Given the description of an element on the screen output the (x, y) to click on. 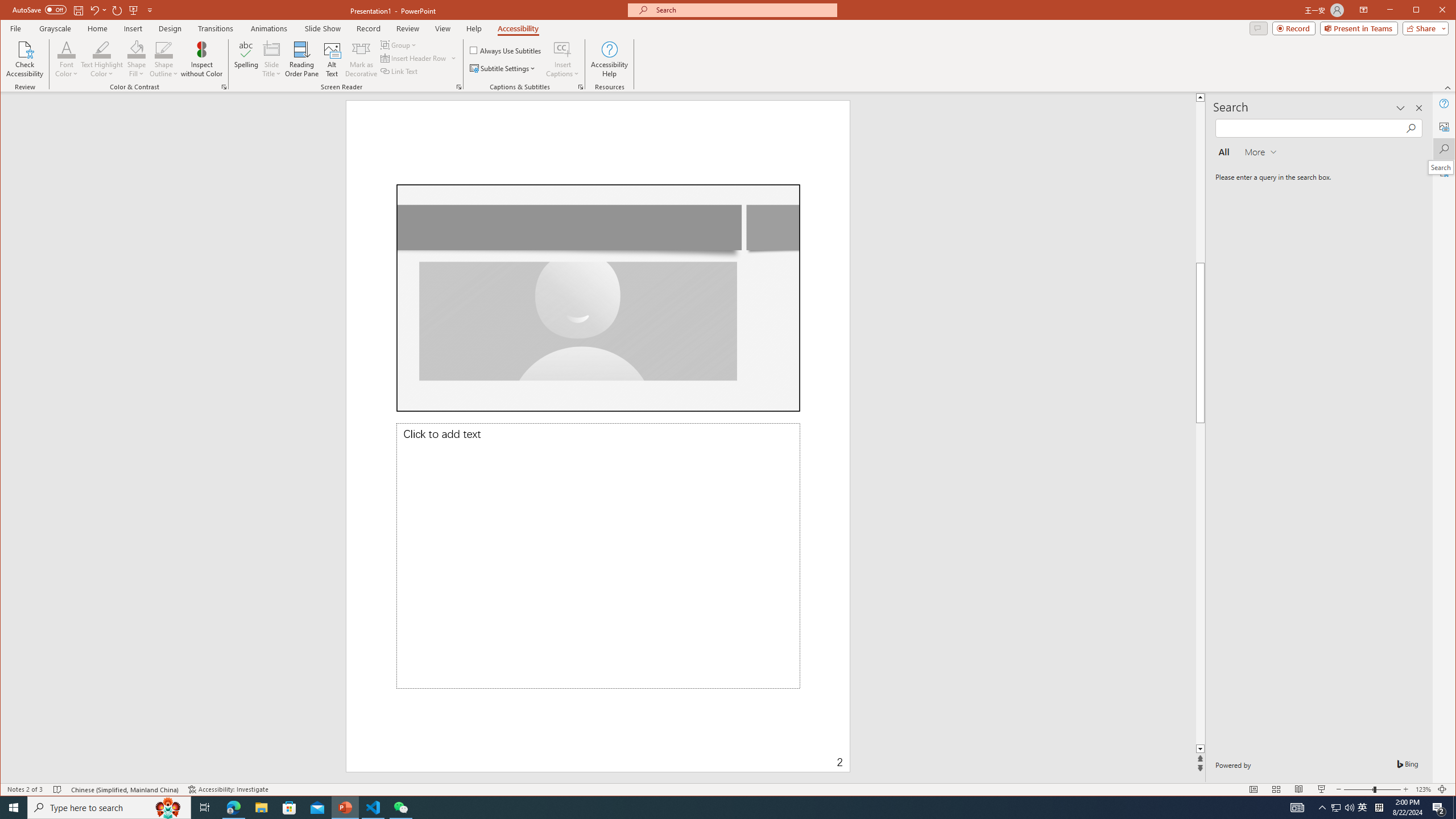
Insert Captions (562, 59)
Mark as Decorative (360, 59)
Group (399, 44)
Captions & Subtitles (580, 86)
Insert Header Row (413, 57)
WeChat - 1 running window (400, 807)
Screen Reader (458, 86)
Shape Fill Orange, Accent 2 (136, 48)
